Given the description of an element on the screen output the (x, y) to click on. 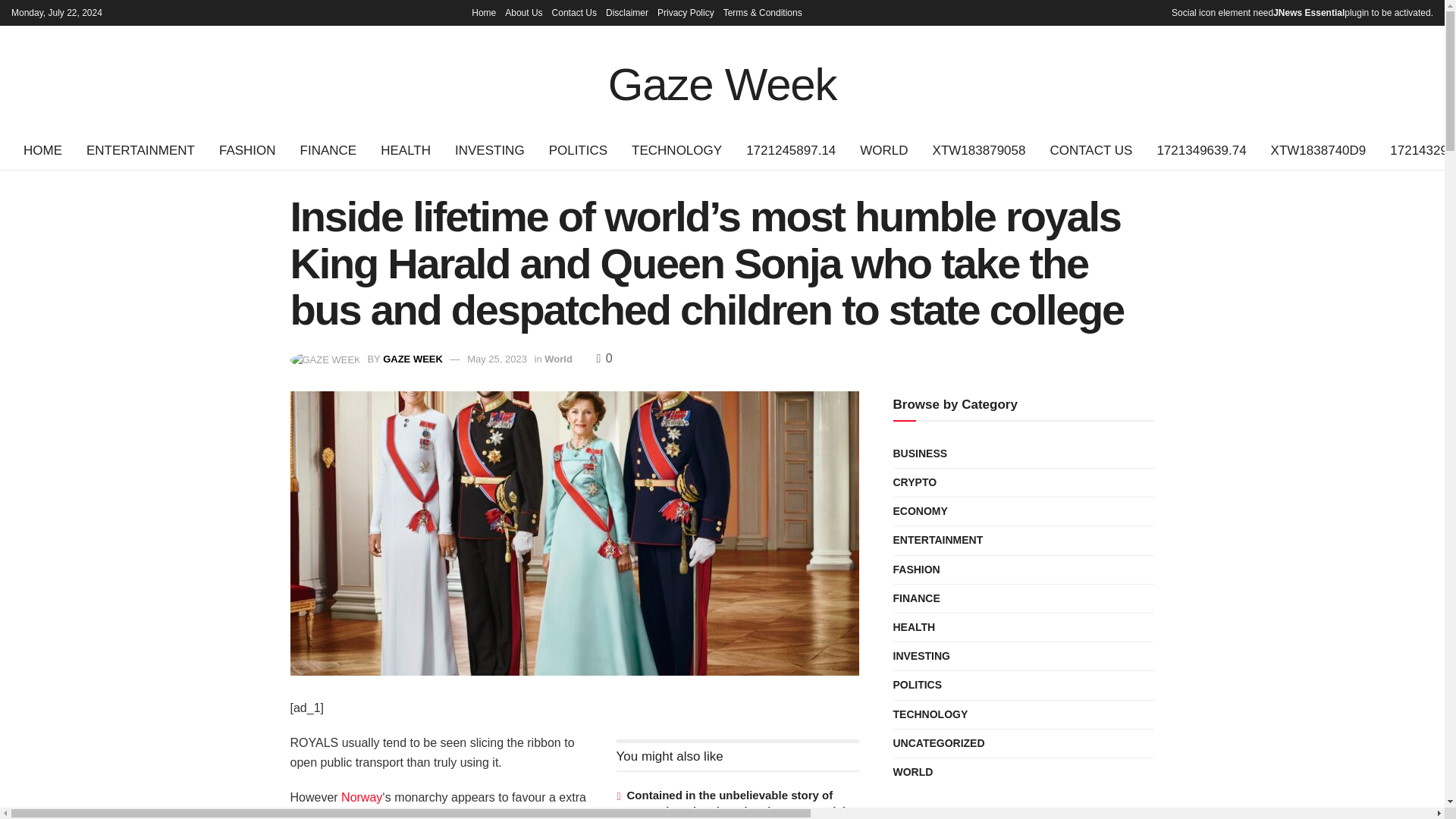
Disclaimer (626, 12)
XTW183879058 (979, 150)
CONTACT US (1090, 150)
Contact Us (573, 12)
Home (483, 12)
HEALTH (405, 150)
HOME (42, 150)
FASHION (247, 150)
Privacy Policy (686, 12)
1721349639.74 (1200, 150)
INVESTING (489, 150)
Gaze Week (722, 78)
POLITICS (578, 150)
TECHNOLOGY (676, 150)
1721432996.35 (1416, 150)
